Given the description of an element on the screen output the (x, y) to click on. 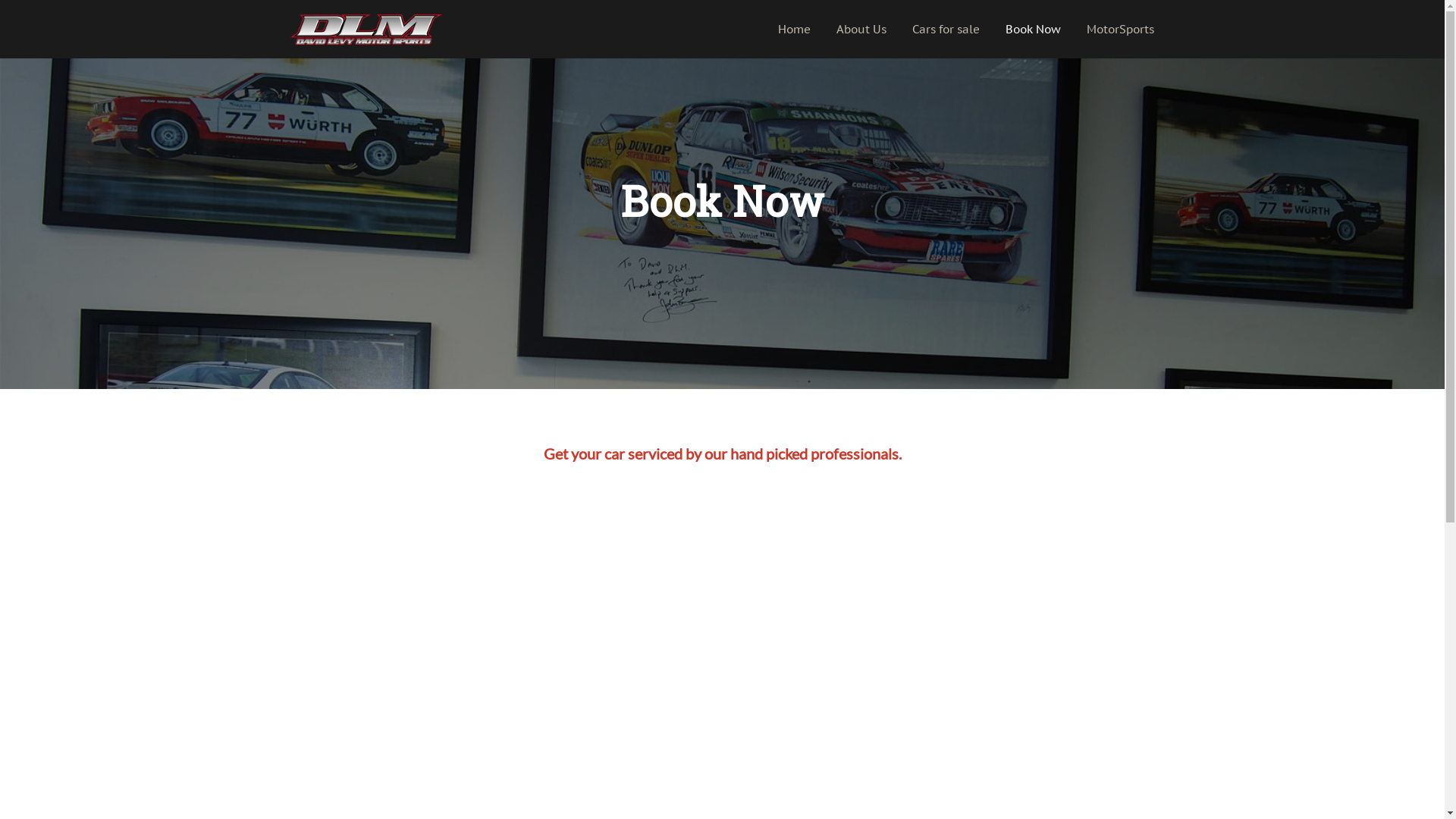
About Us Element type: text (861, 28)
Book Now Element type: text (1032, 28)
MotorSports Element type: text (1120, 28)
Home Element type: text (794, 28)
Cars for sale Element type: text (945, 28)
